Given the description of an element on the screen output the (x, y) to click on. 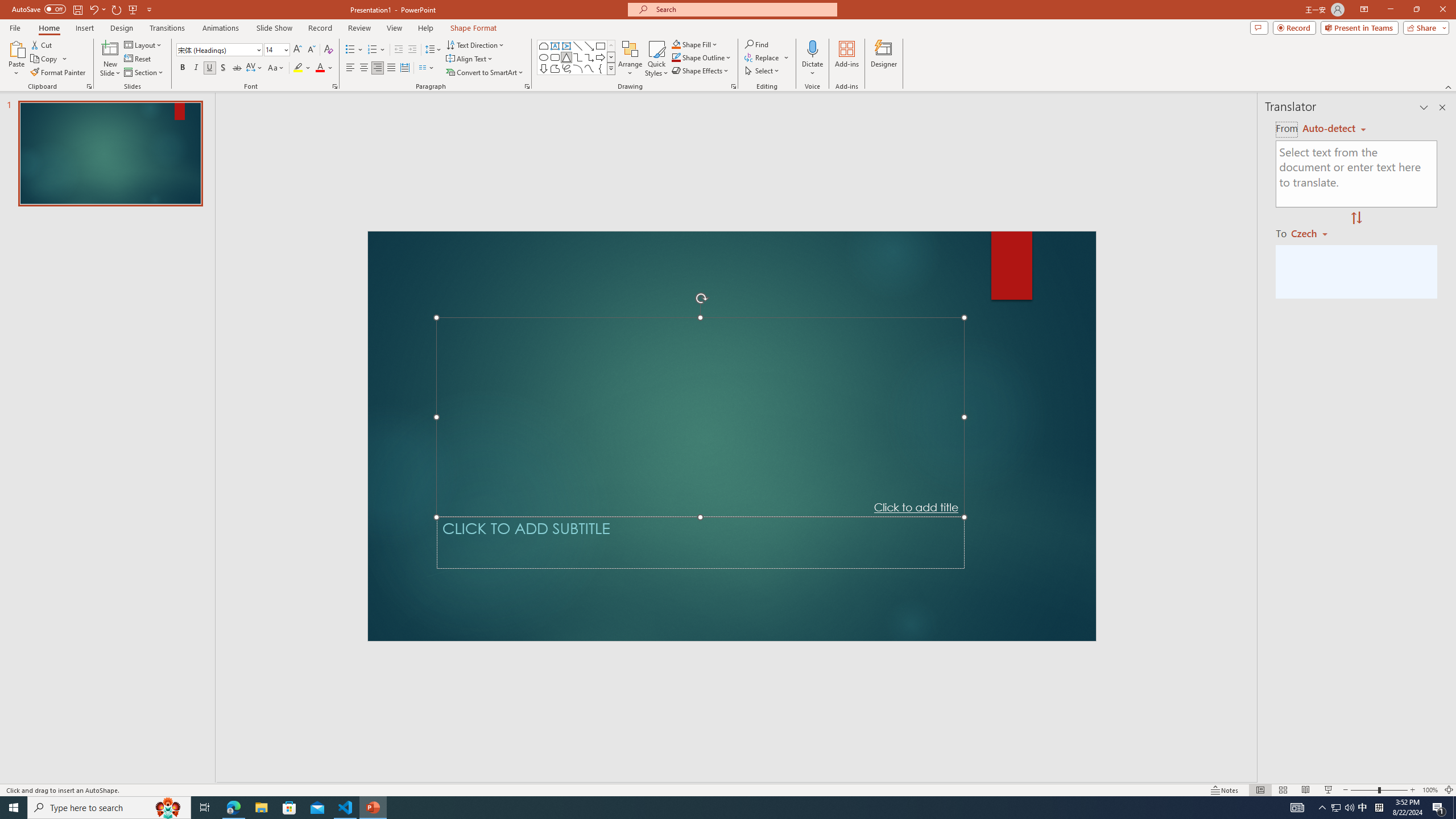
Shape Fill Orange, Accent 2 (675, 44)
